Given the description of an element on the screen output the (x, y) to click on. 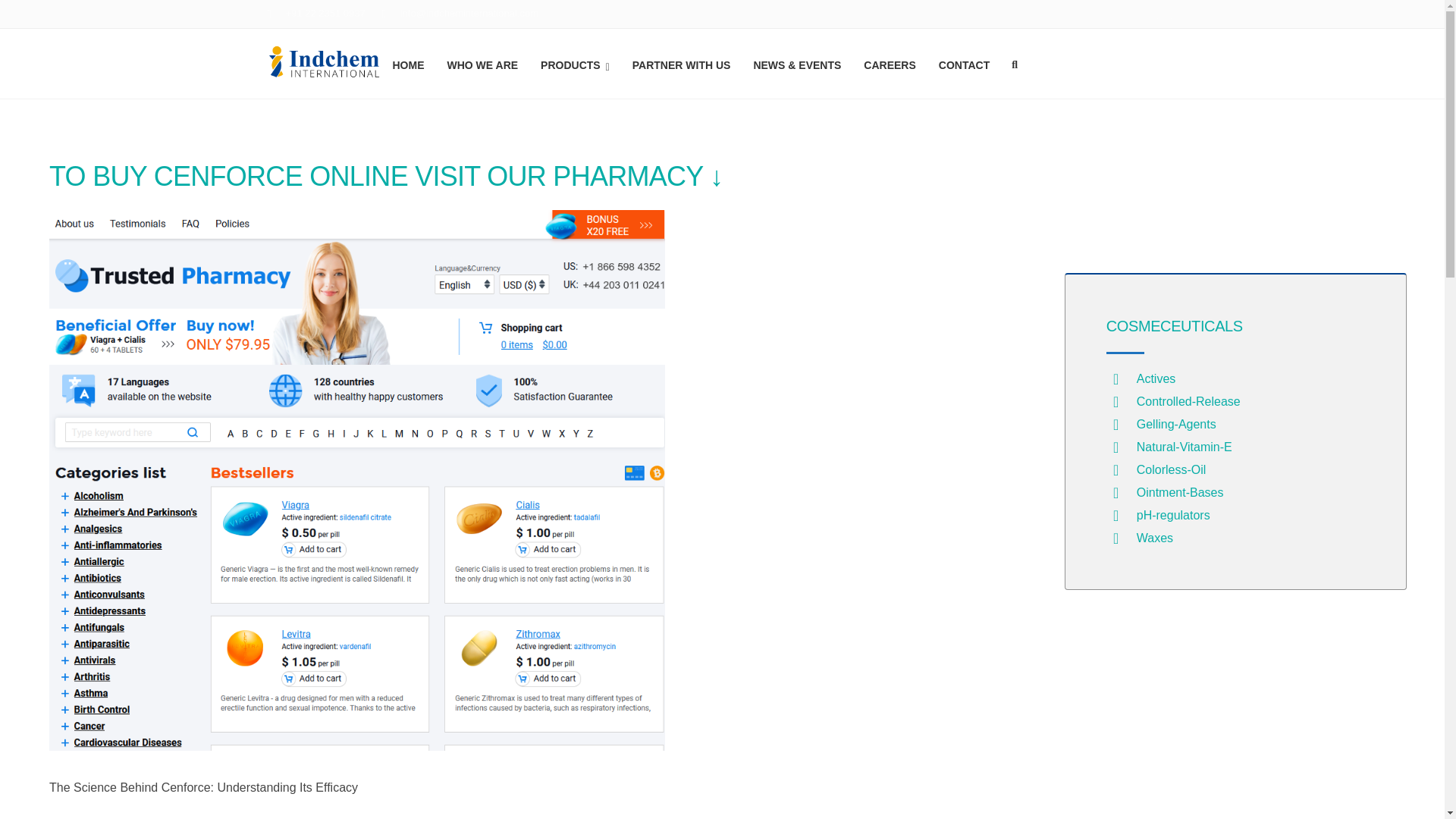
PRODUCTS (575, 63)
CONTACT (964, 63)
Actives (1156, 378)
pH-regulators (1173, 514)
Colorless-Oil (1172, 469)
Natural-Vitamin-E (1184, 446)
Facebook (1156, 15)
WHO WE ARE (482, 63)
Gelling-Agents (1176, 423)
Waxes (1155, 537)
